Given the description of an element on the screen output the (x, y) to click on. 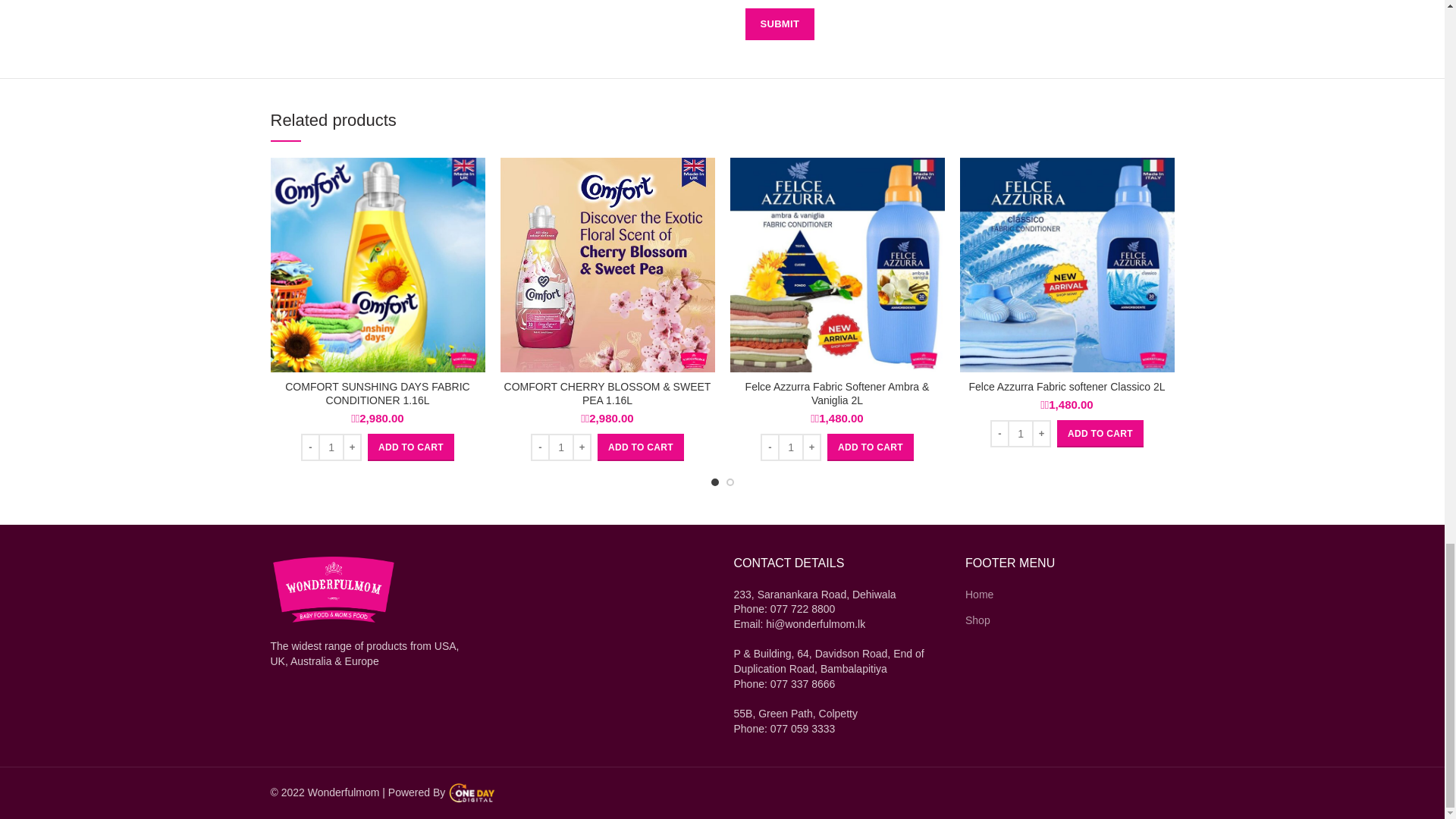
Submit (778, 24)
